Given the description of an element on the screen output the (x, y) to click on. 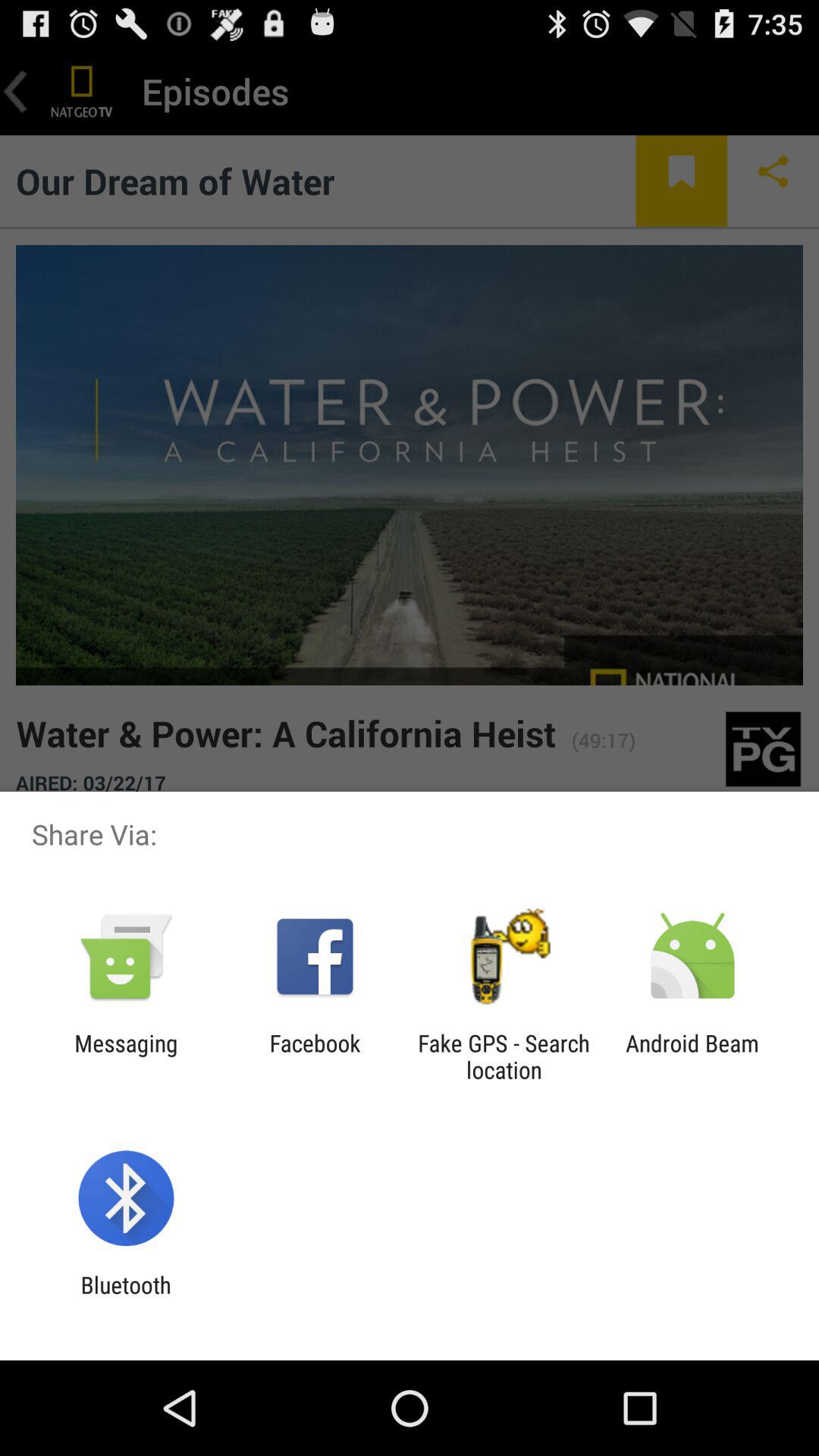
flip to bluetooth (125, 1298)
